Given the description of an element on the screen output the (x, y) to click on. 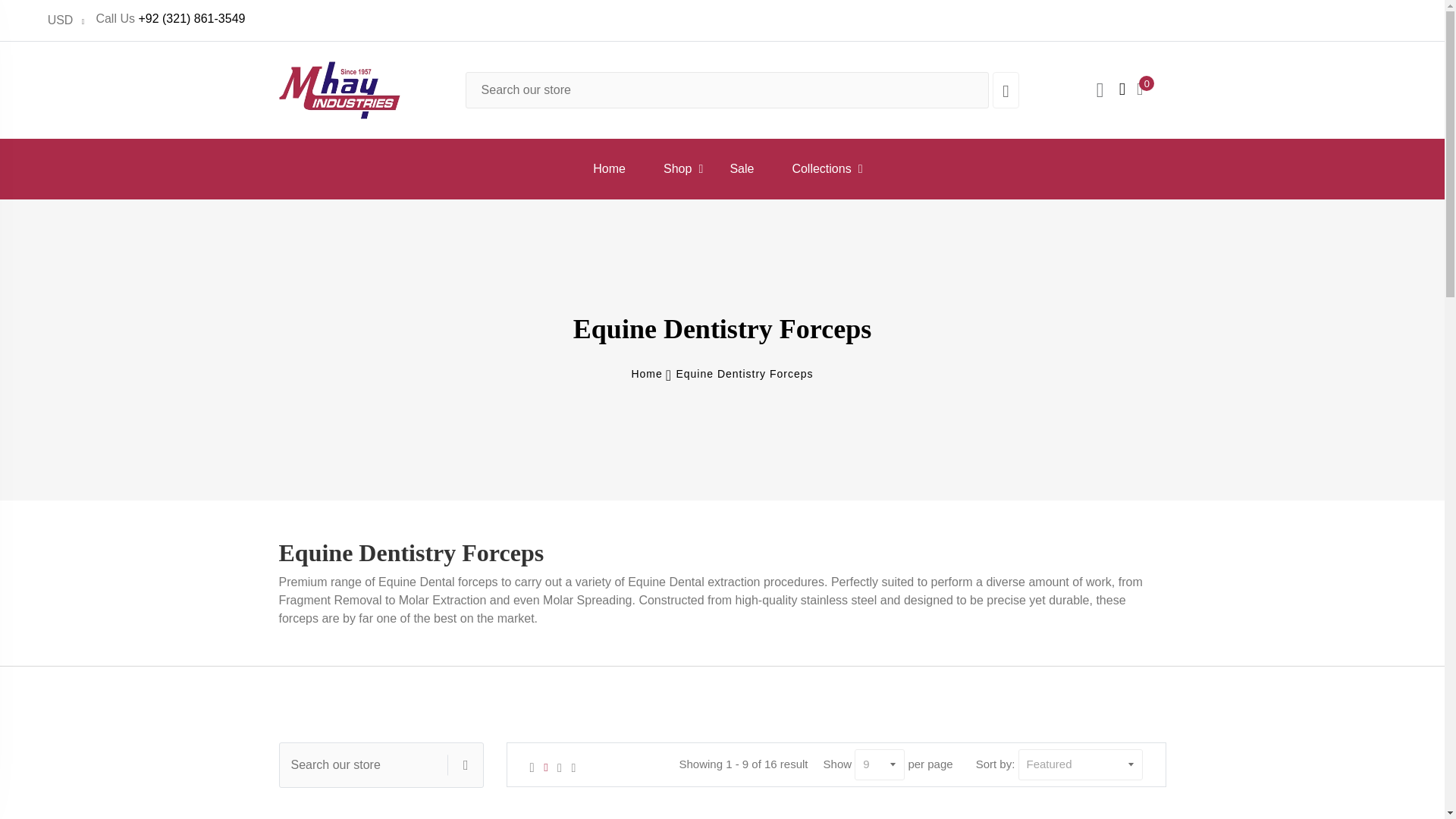
Back to the home page (646, 374)
Collections (821, 168)
